Given the description of an element on the screen output the (x, y) to click on. 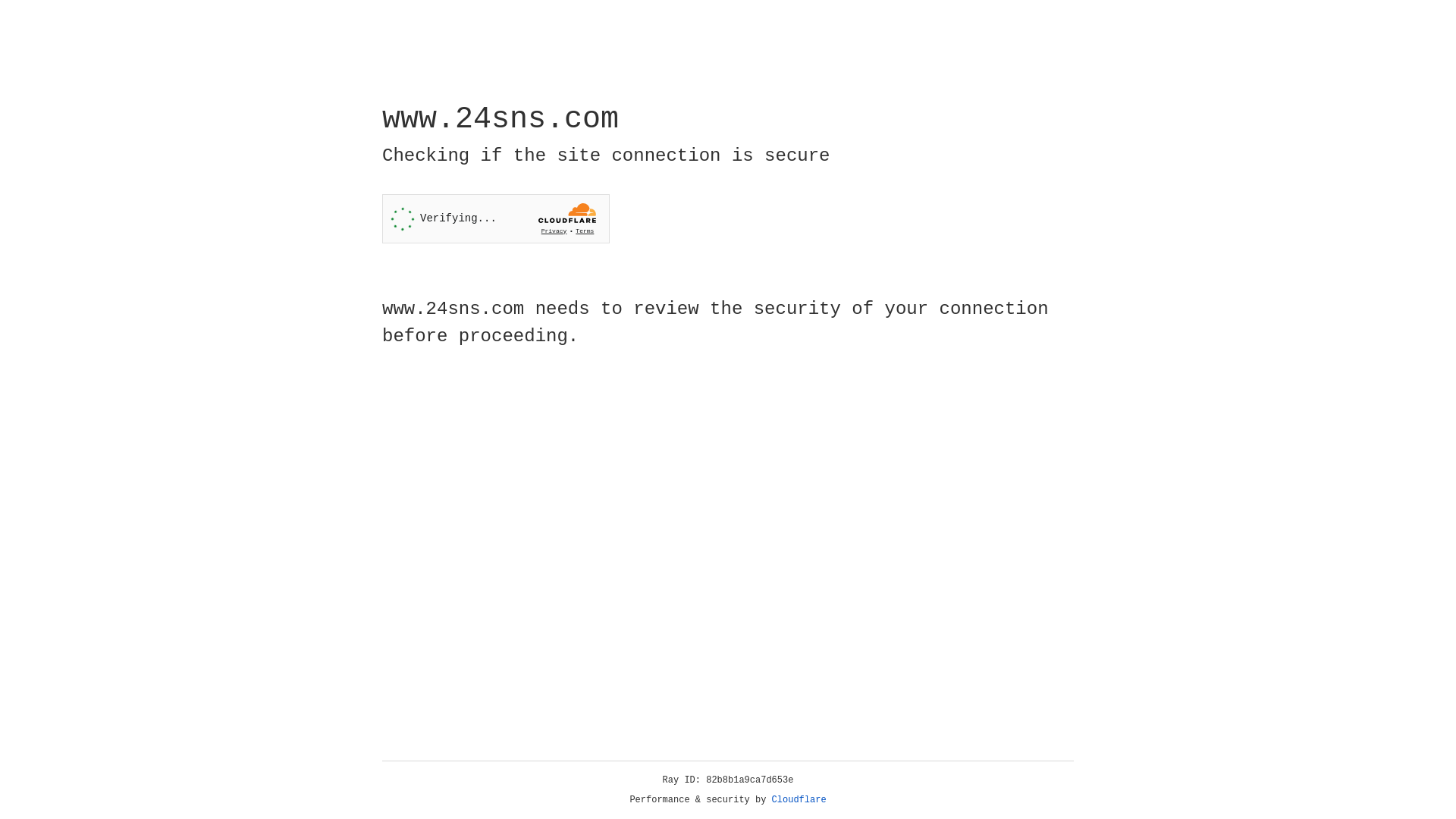
Cloudflare Element type: text (798, 799)
Widget containing a Cloudflare security challenge Element type: hover (495, 218)
